Given the description of an element on the screen output the (x, y) to click on. 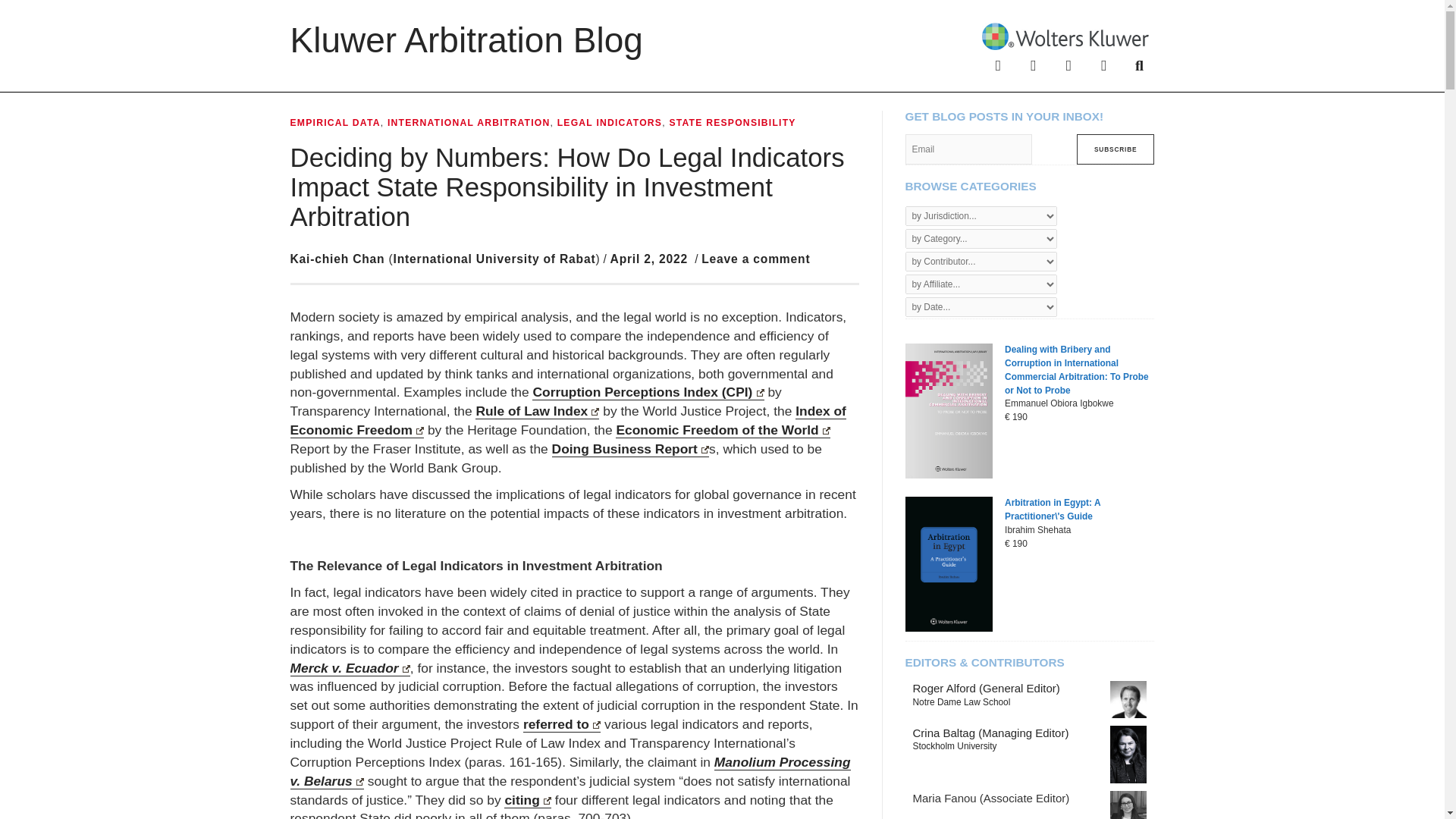
Rule of Law Index (537, 411)
Index of Economic Freedom (567, 420)
LinkedIn (1067, 64)
Doing Business Report (630, 449)
April 2, 2022 (648, 258)
Manolium Processing v. Belarus (569, 771)
INTERNATIONAL ARBITRATION (468, 122)
Economic Freedom of the World (722, 430)
Subscribe (1115, 149)
Merck v. Ecuador (349, 668)
Kluwer Arbitration Blog (465, 39)
STATE RESPONSIBILITY (731, 122)
International University of Rabat (494, 258)
EMPIRICAL DATA (334, 122)
X (1032, 64)
